Given the description of an element on the screen output the (x, y) to click on. 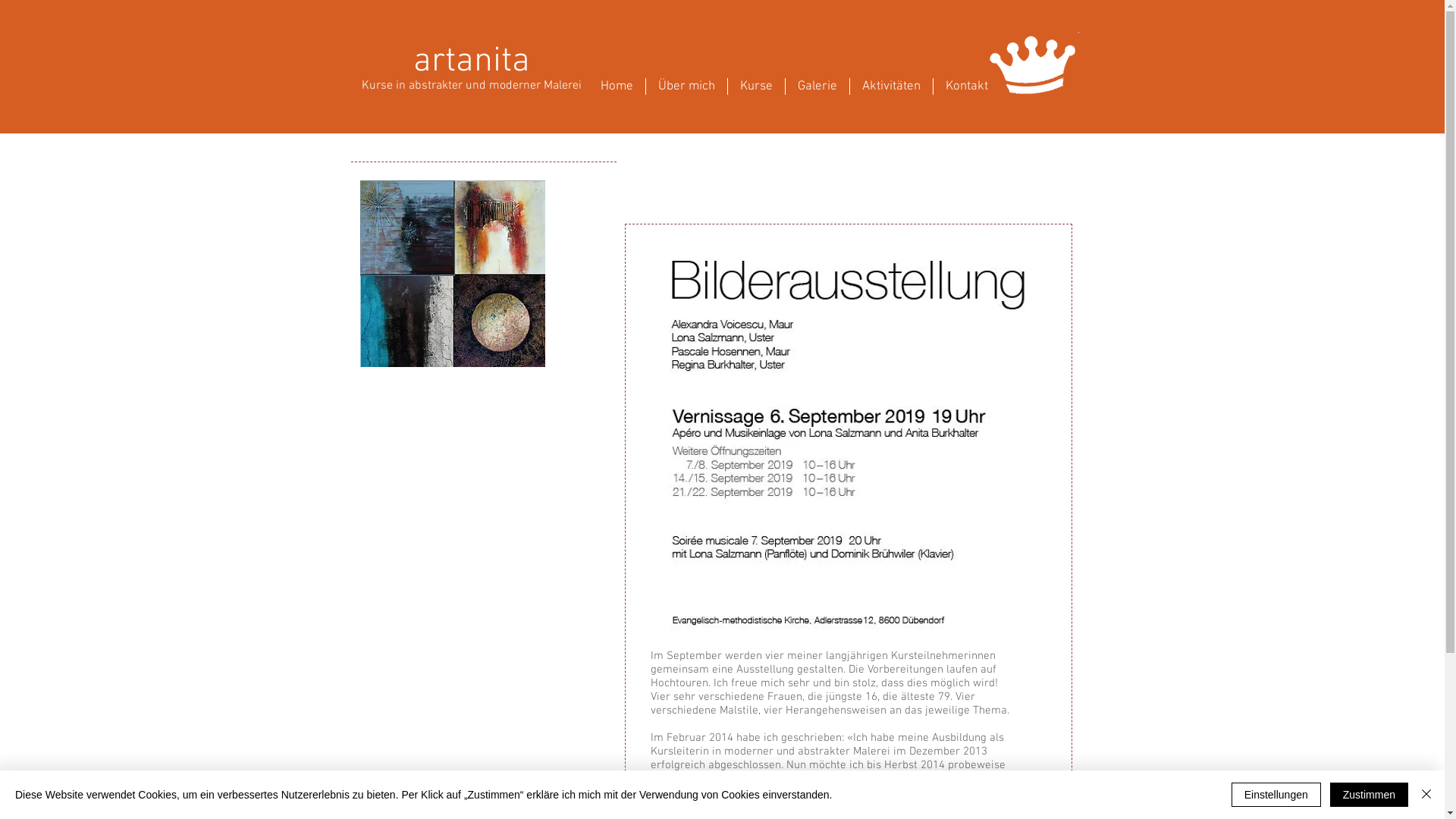
Atelier Mueti und Monika quer.jpg Element type: hover (847, 432)
Einstellungen Element type: text (1276, 794)
artanita Element type: text (470, 61)
Kurse Element type: text (756, 86)
Zustimmen Element type: text (1369, 794)
artanita Logo Element type: hover (1033, 63)
Home Element type: text (616, 86)
Galerie Element type: text (817, 86)
Atelier Mueti und Monika quer.jpg Element type: hover (451, 273)
Kontakt Element type: text (965, 86)
Kurse in abstrakter und moderner Malerei Element type: text (470, 85)
